Given the description of an element on the screen output the (x, y) to click on. 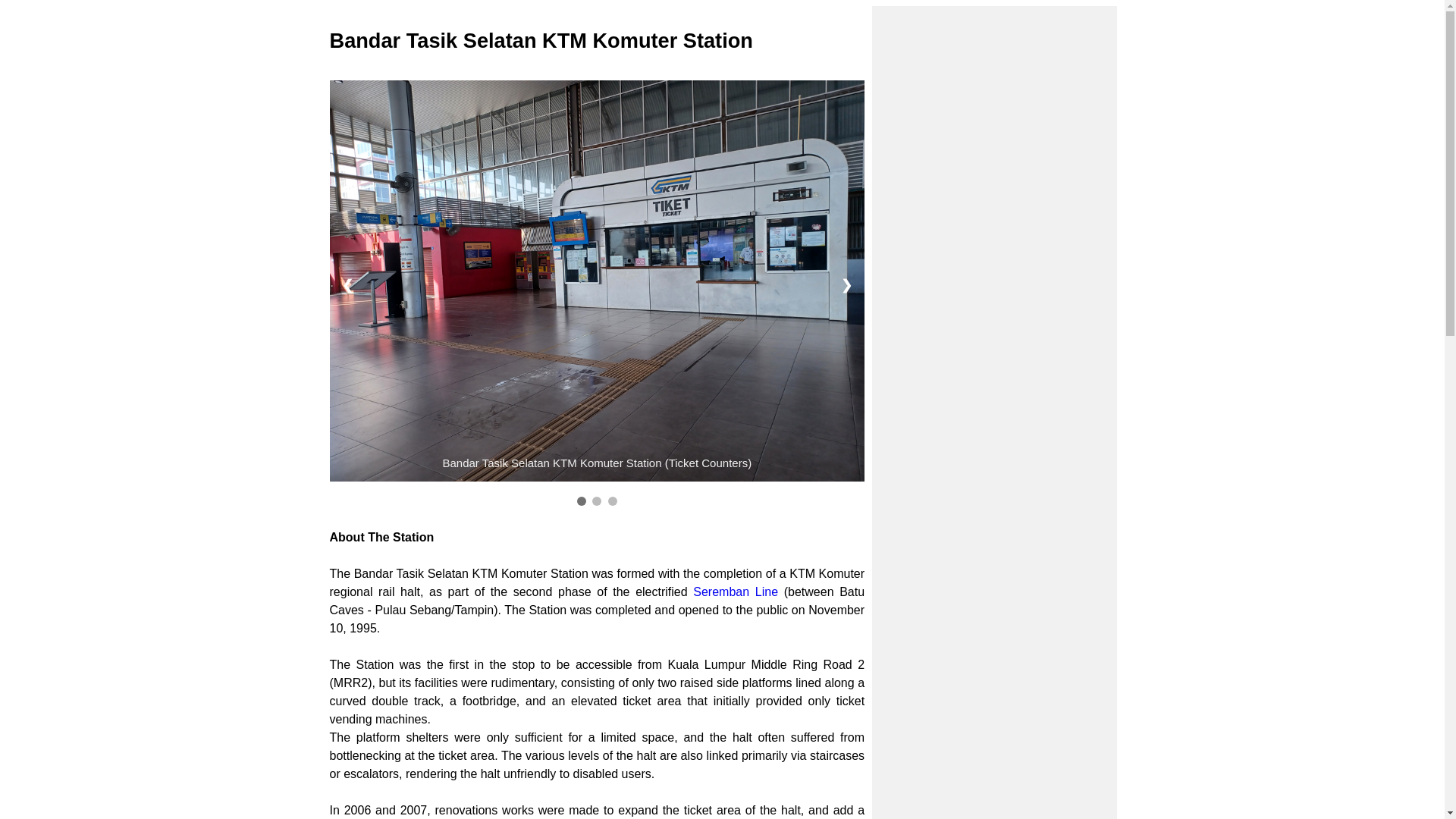
Seremban Line (735, 591)
